Given the description of an element on the screen output the (x, y) to click on. 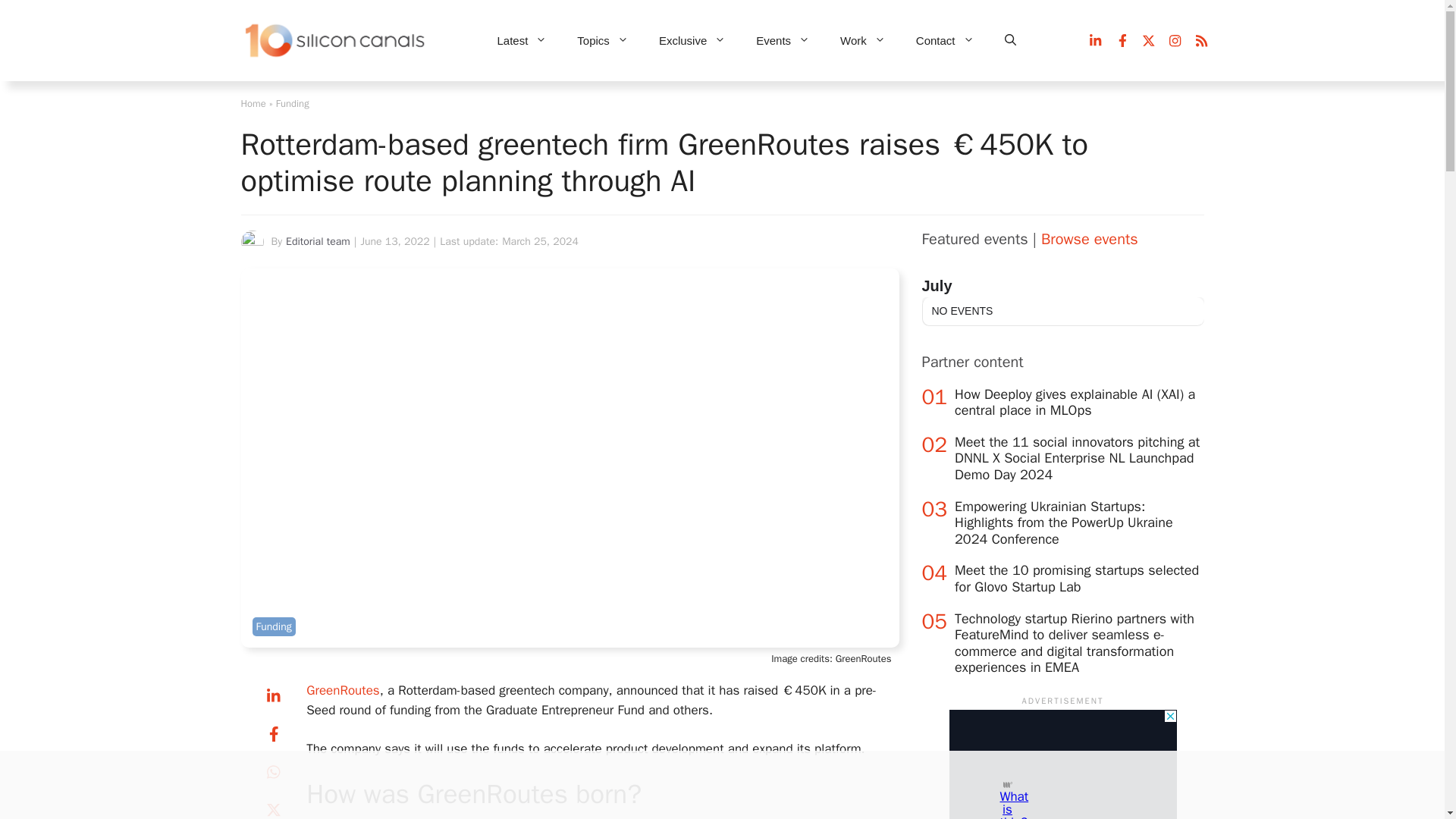
Exclusive (692, 40)
3rd party ad content (1062, 764)
3rd party ad content (708, 785)
SC 10 year horizontal (335, 40)
Latest (521, 40)
Topics (602, 40)
Work (863, 40)
Events (783, 40)
